Given the description of an element on the screen output the (x, y) to click on. 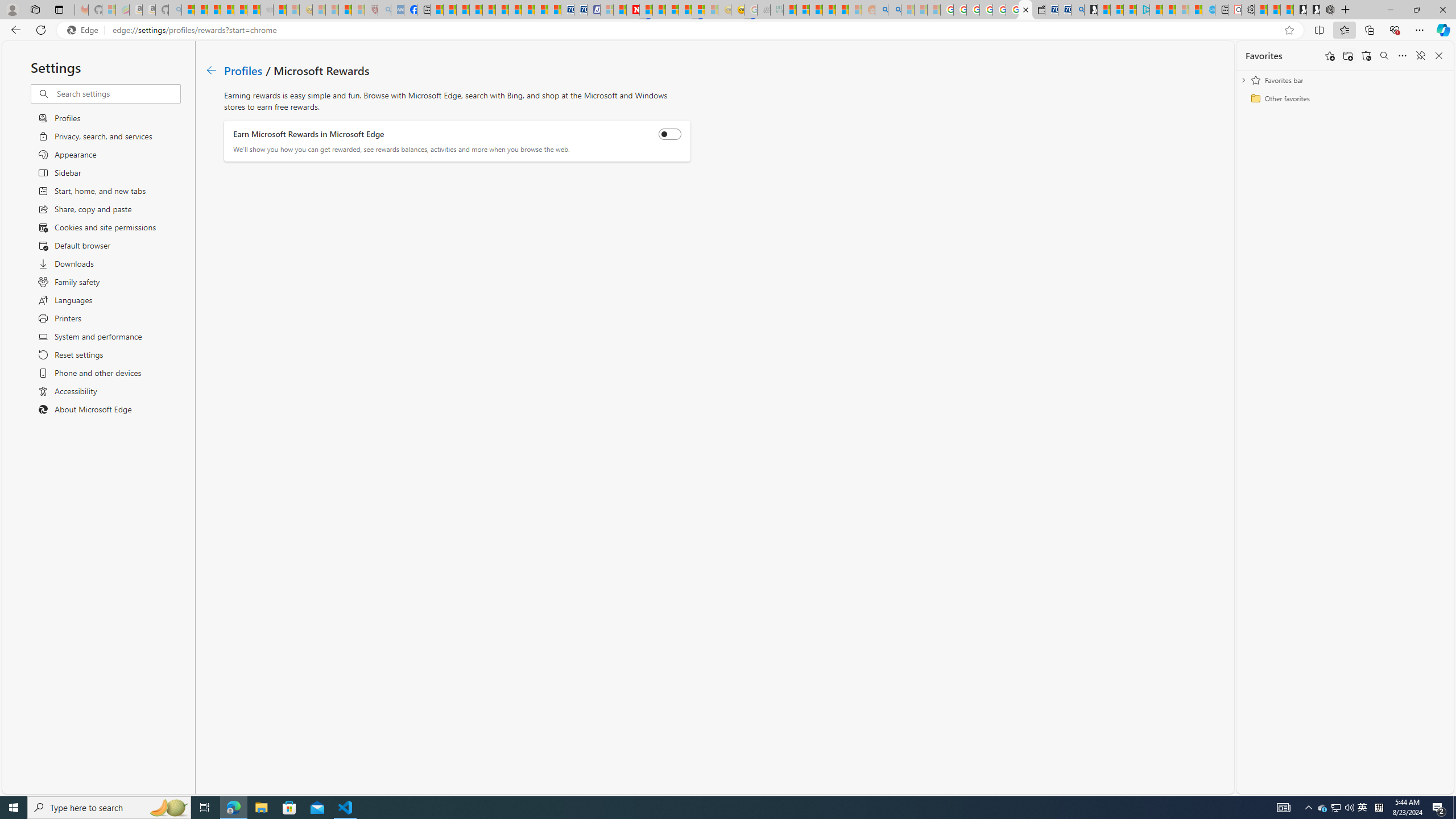
Edge (84, 29)
Climate Damage Becomes Too Severe To Reverse (475, 9)
DITOGAMES AG Imprint - Sleeping (776, 9)
Add this page to favorites (1330, 55)
12 Popular Science Lies that Must be Corrected - Sleeping (357, 9)
Utah sues federal government - Search (894, 9)
